Given the description of an element on the screen output the (x, y) to click on. 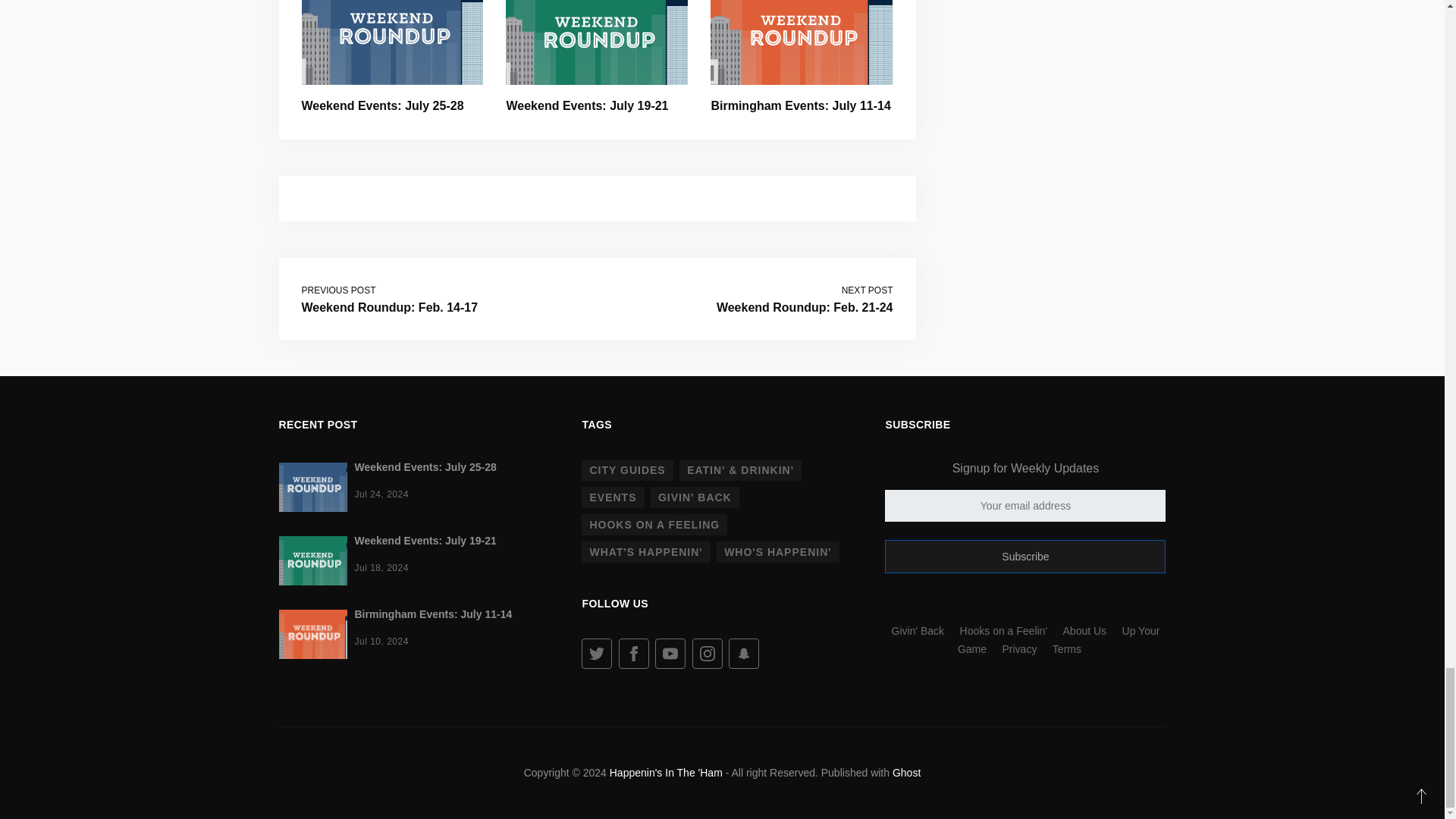
Weekend Events: July 19-21 (586, 105)
PREVIOUS POST (338, 290)
NEXT POST (867, 290)
Weekend Events: July 25-28 (382, 105)
Birmingham Events: July 11-14 (799, 105)
Weekend Roundup: Feb. 14-17 (390, 307)
Weekend Roundup: Feb. 21-24 (804, 307)
